Given the description of an element on the screen output the (x, y) to click on. 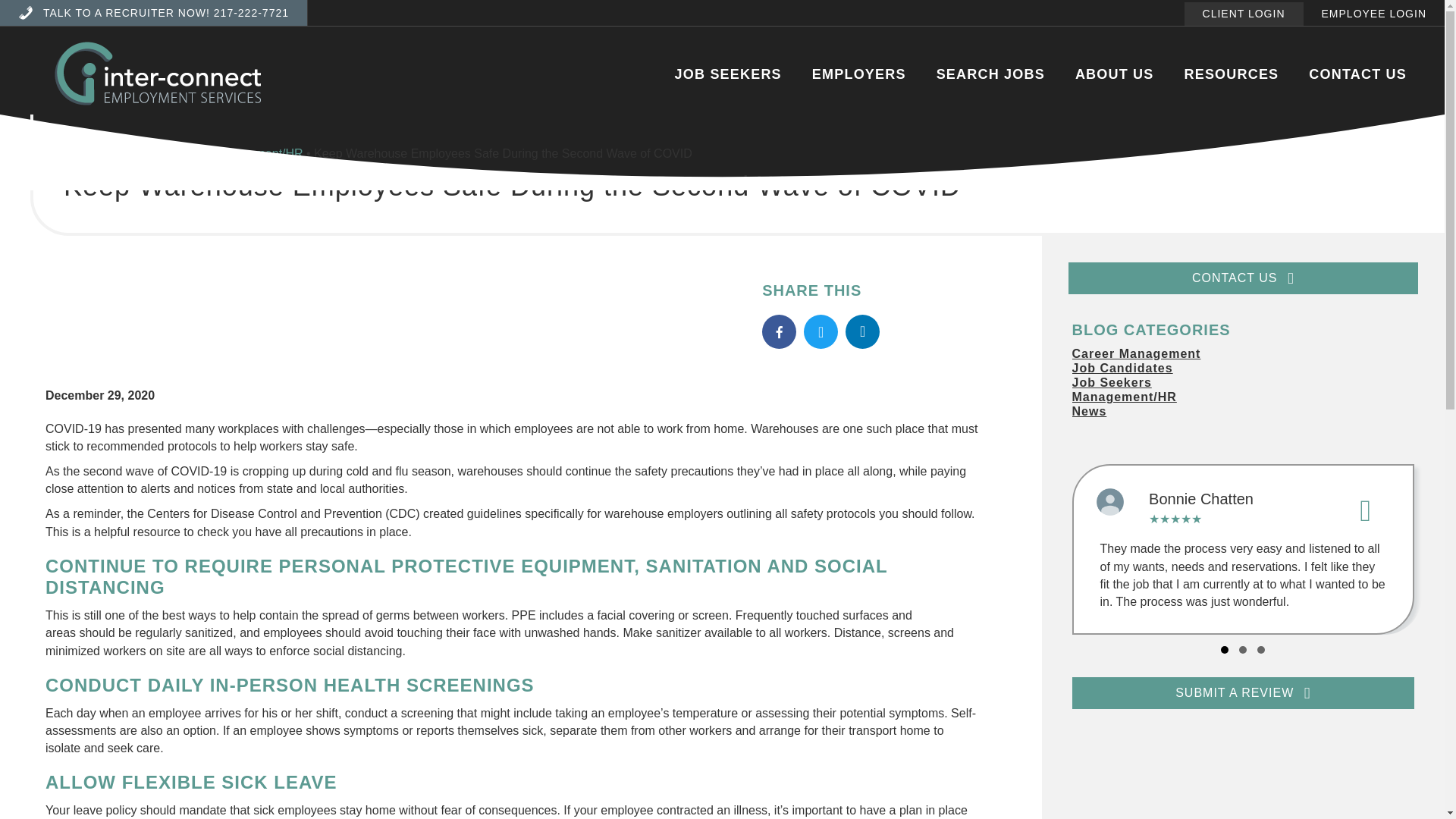
CLIENT LOGIN (1244, 13)
ABOUT US (1114, 72)
CONTACT US (1357, 72)
News (1243, 411)
Career Management (1243, 353)
Home (80, 153)
SEARCH JOBS (990, 72)
Job Candidates (1243, 368)
Blog (188, 153)
JOB SEEKERS (728, 72)
